Given the description of an element on the screen output the (x, y) to click on. 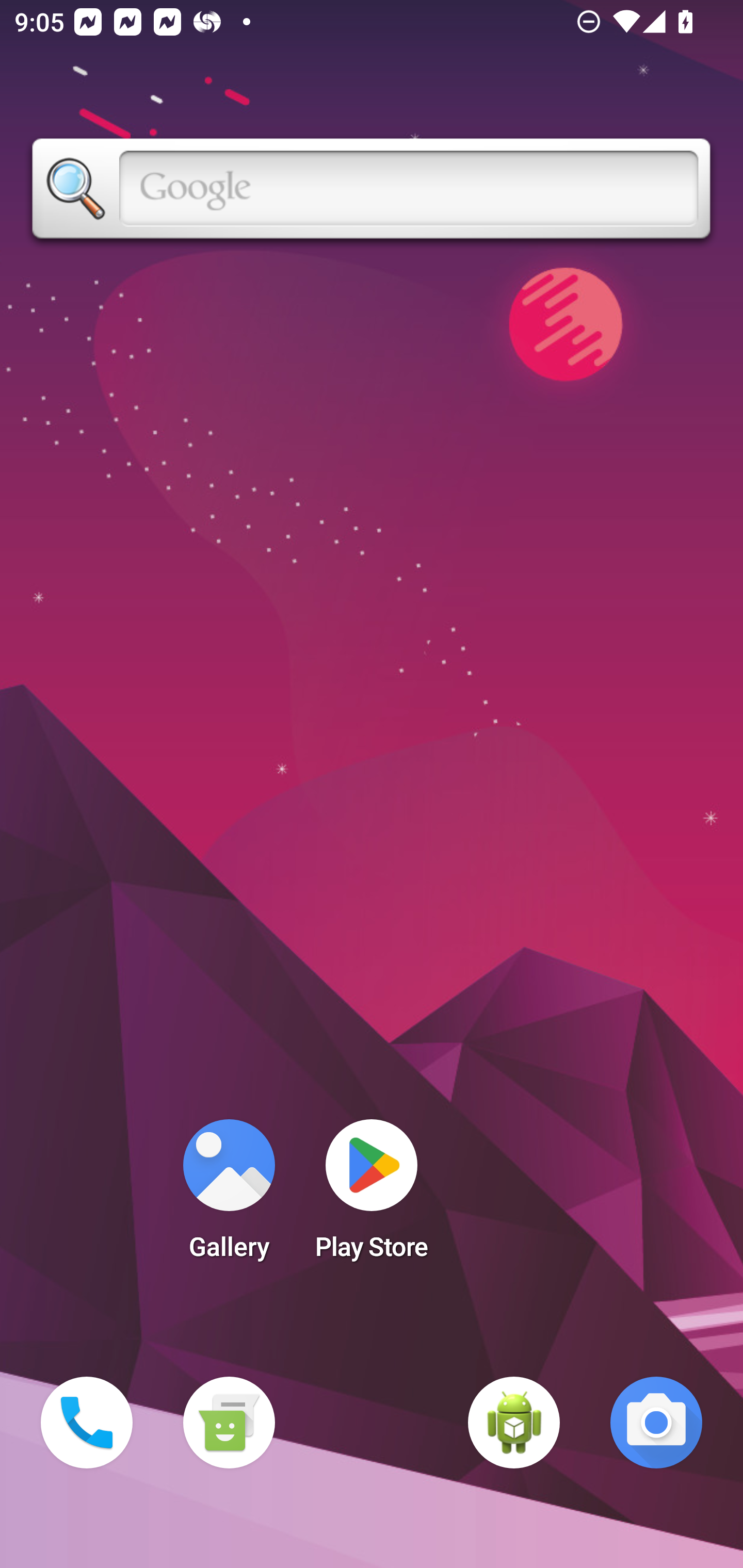
Gallery (228, 1195)
Play Store (371, 1195)
Phone (86, 1422)
Messaging (228, 1422)
WebView Browser Tester (513, 1422)
Camera (656, 1422)
